Given the description of an element on the screen output the (x, y) to click on. 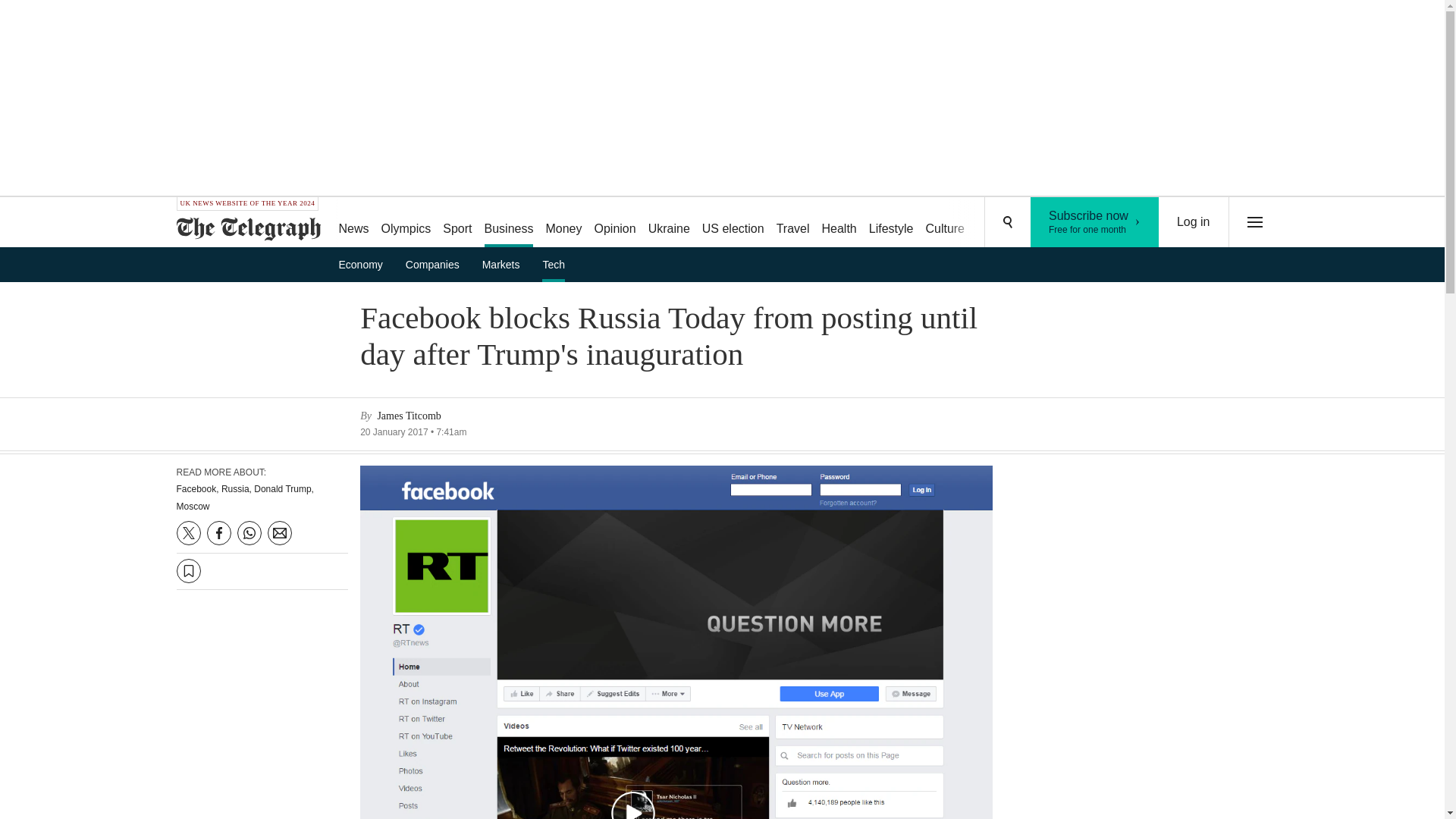
US election (732, 223)
Ukraine (668, 223)
Money (563, 223)
Puzzles (998, 223)
Olympics (1094, 222)
Economy (406, 223)
Business (364, 264)
Culture (509, 223)
Log in (944, 223)
Podcasts (1193, 222)
Travel (1056, 223)
Opinion (792, 223)
Companies (615, 223)
Health (437, 264)
